Given the description of an element on the screen output the (x, y) to click on. 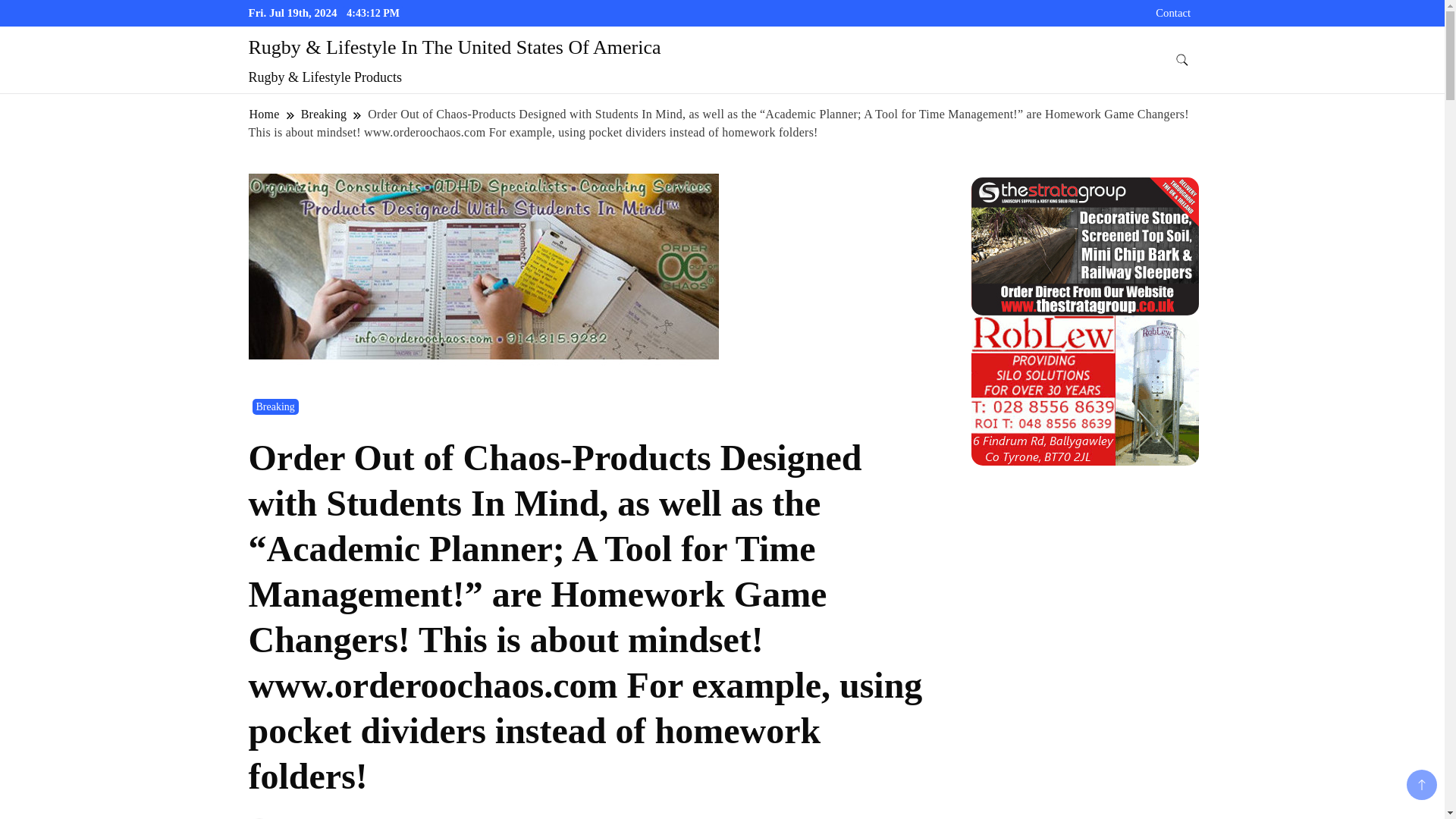
Home (264, 114)
Contact (1173, 12)
Breaking (274, 406)
Breaking (323, 114)
